Given the description of an element on the screen output the (x, y) to click on. 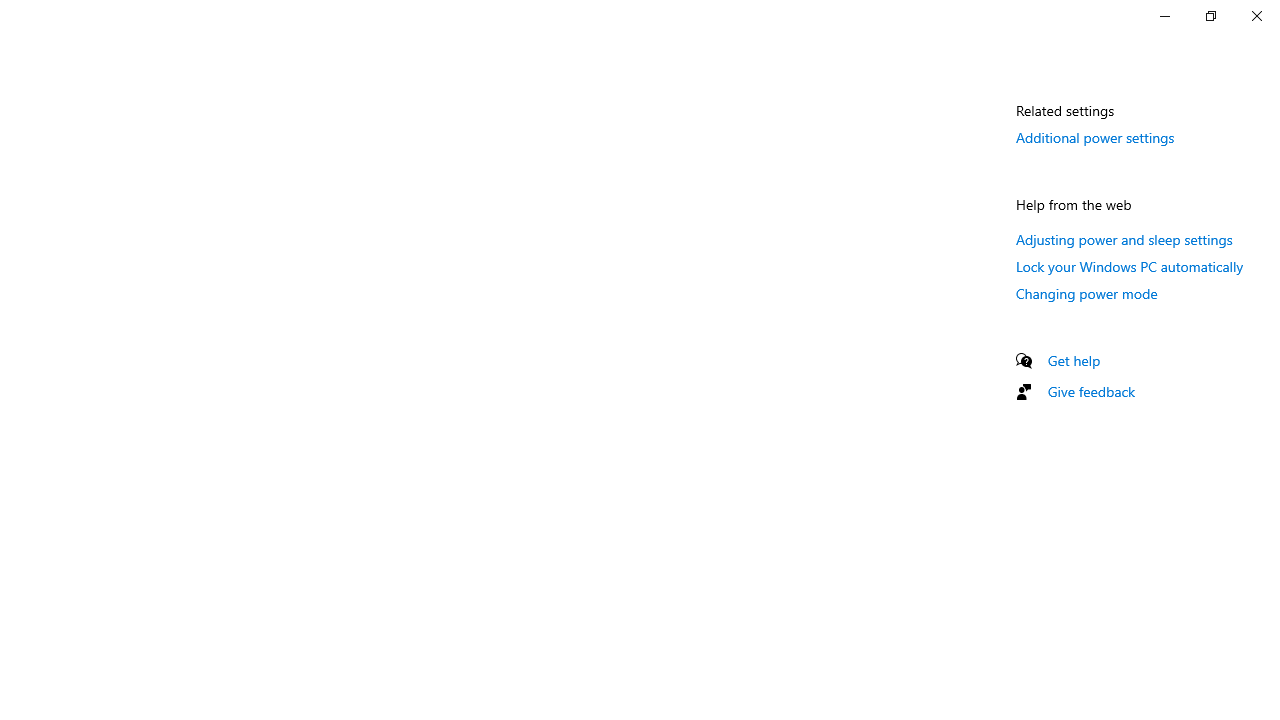
Restore Settings (1210, 15)
Additional power settings (1095, 137)
Adjusting power and sleep settings (1124, 239)
Get help (1074, 360)
Close Settings (1256, 15)
Changing power mode (1087, 293)
Lock your Windows PC automatically (1130, 266)
Minimize Settings (1164, 15)
Give feedback (1091, 391)
